Given the description of an element on the screen output the (x, y) to click on. 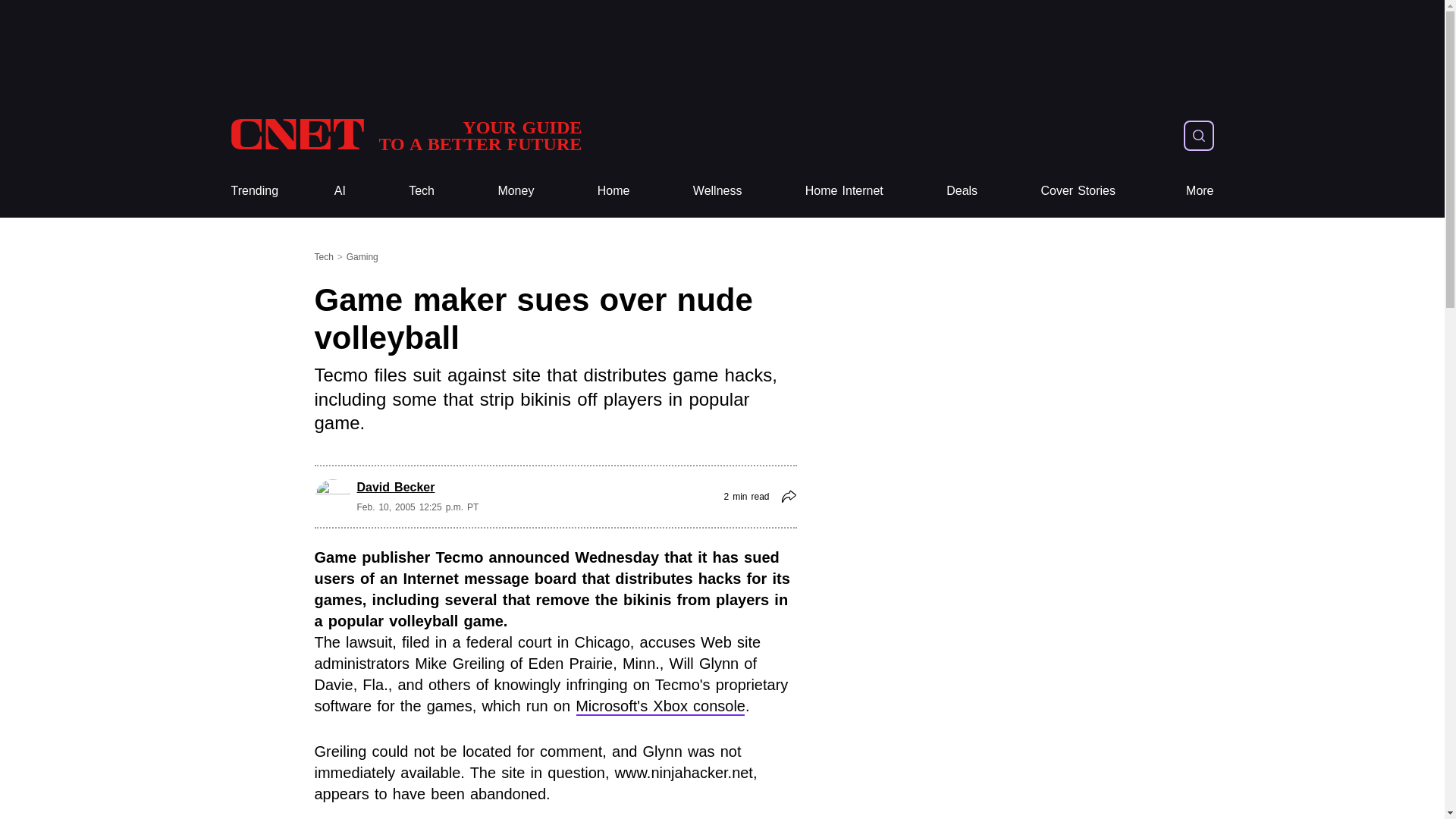
Money (515, 190)
Wellness (717, 190)
Home Internet (844, 190)
Trending (254, 190)
Home (613, 190)
Tech (421, 190)
CNET (405, 135)
Money (515, 190)
Home Internet (844, 190)
Wellness (717, 190)
